Given the description of an element on the screen output the (x, y) to click on. 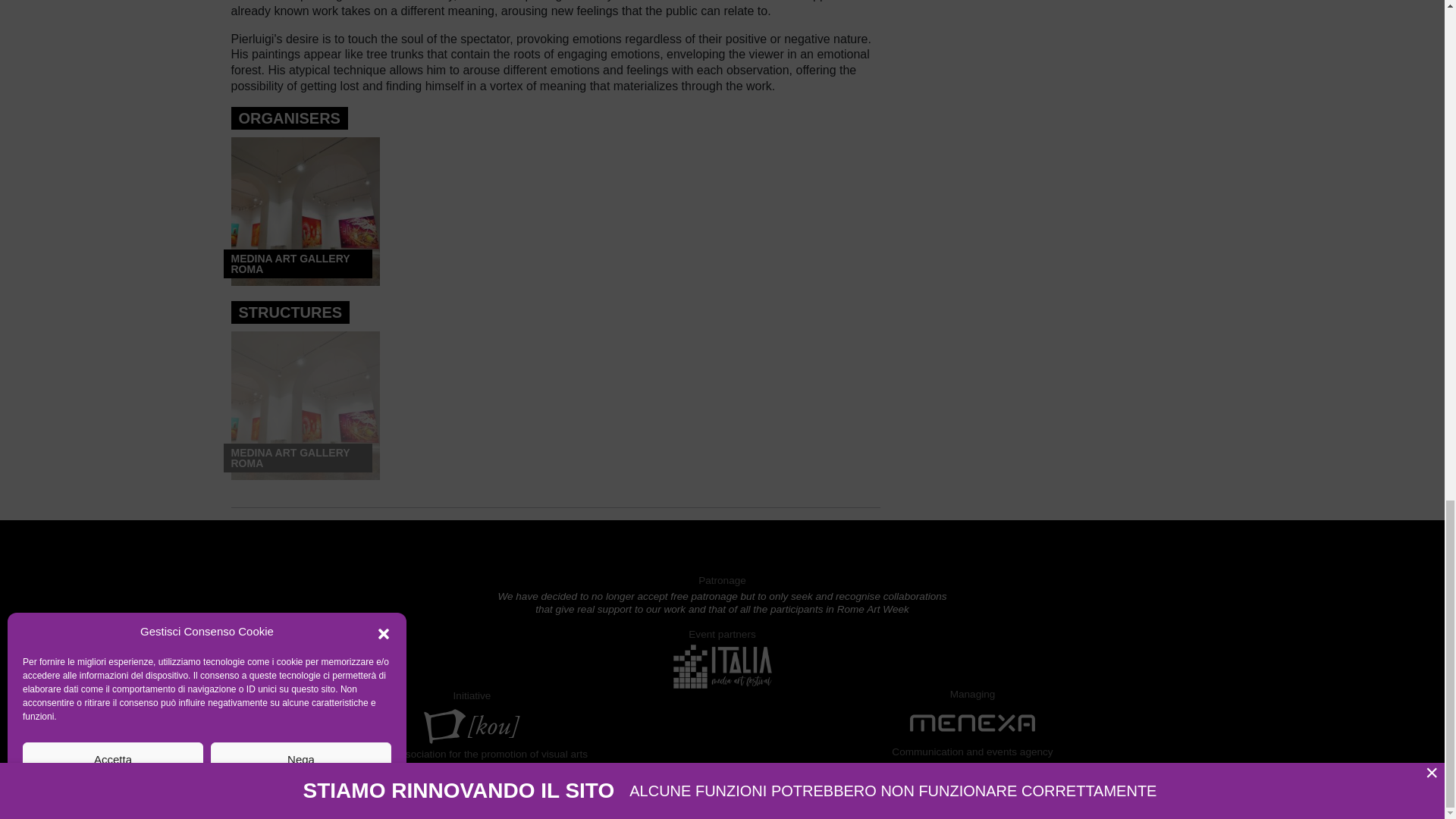
Medina Art Gallery Roma (304, 405)
Italia Media Art Festival (721, 665)
Medina Art Gallery Roma (304, 211)
MEDINA ART GALLERY ROMA (304, 405)
MEDINA ART GALLERY ROMA (304, 211)
